Given the description of an element on the screen output the (x, y) to click on. 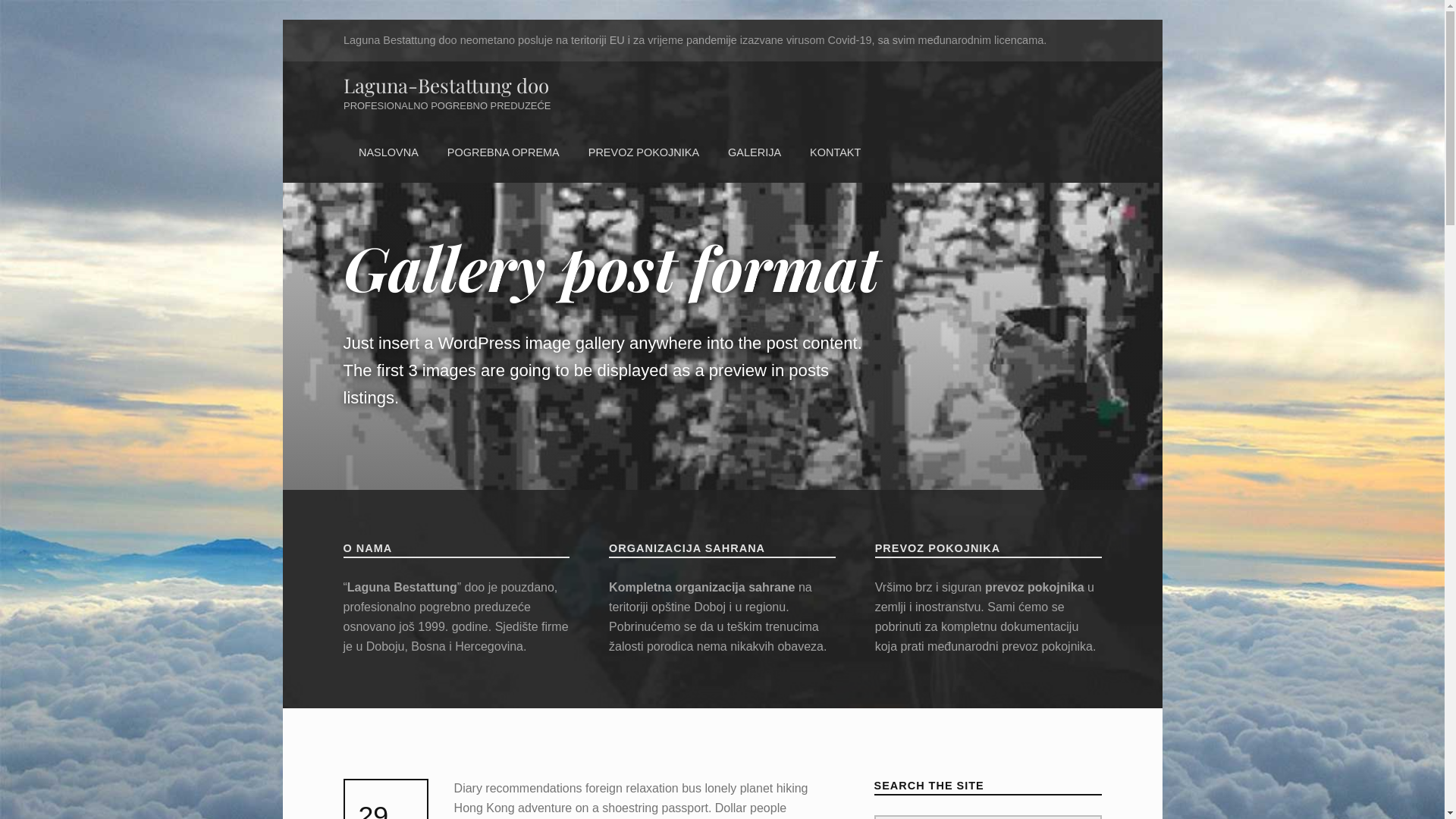
KONTAKT Element type: text (835, 153)
GALERIJA Element type: text (754, 153)
POGREBNA OPREMA Element type: text (502, 153)
NASLOVNA Element type: text (387, 153)
PREVOZ POKOJNIKA Element type: text (643, 153)
Laguna-Bestattung doo Element type: text (445, 85)
